Given the description of an element on the screen output the (x, y) to click on. 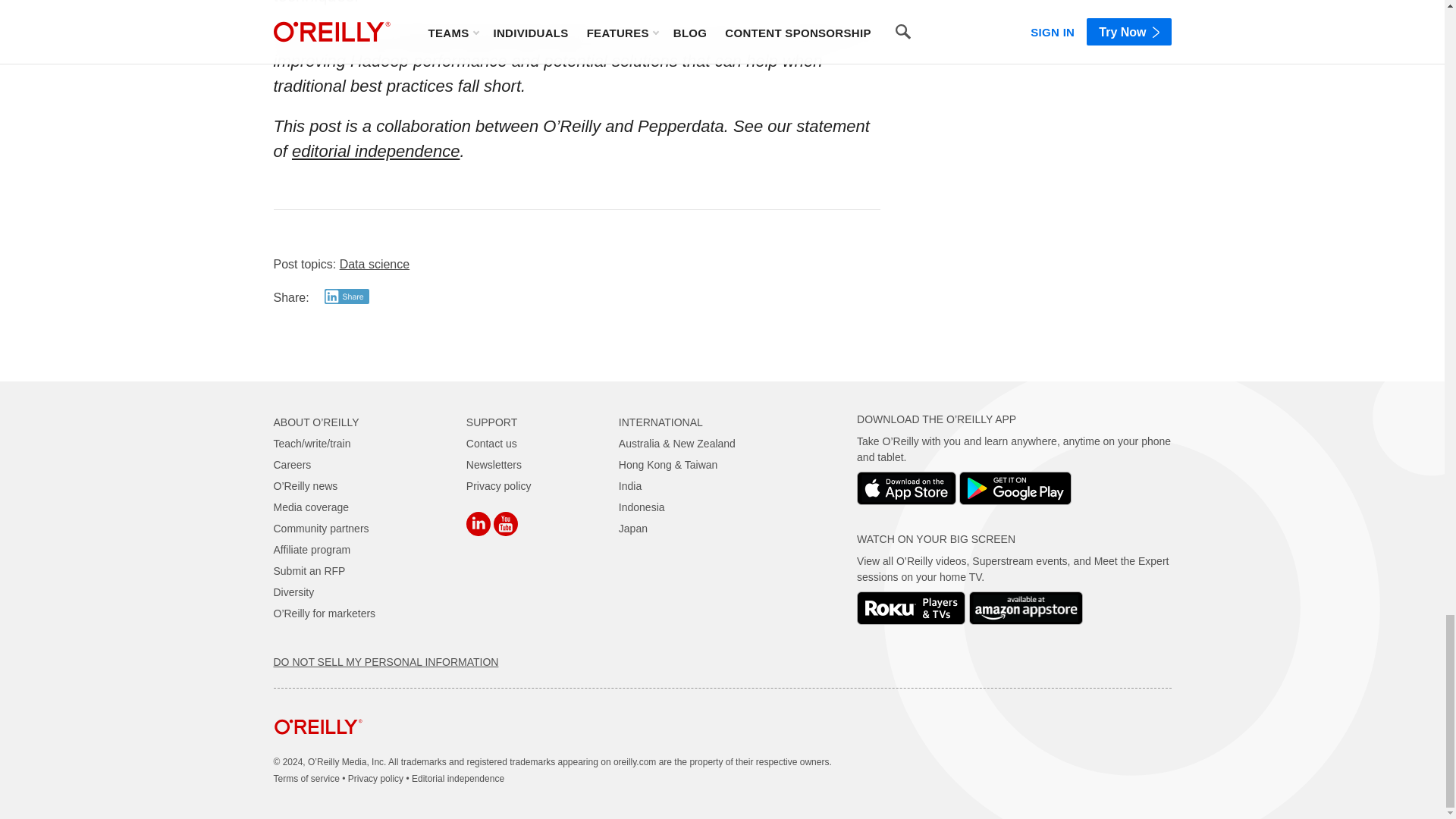
Data science (374, 264)
home page (317, 745)
